Given the description of an element on the screen output the (x, y) to click on. 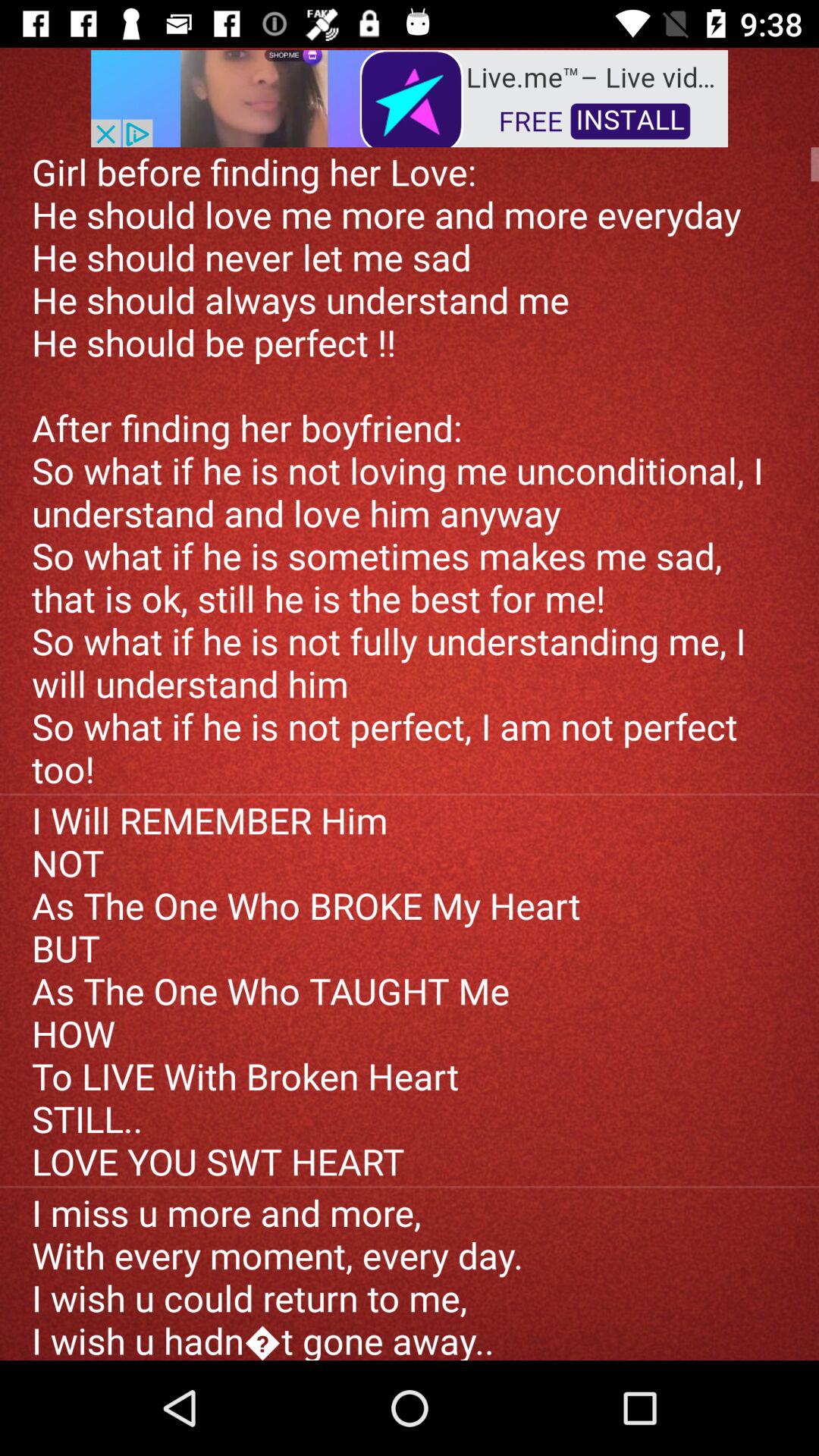
visit advertised website (409, 97)
